Given the description of an element on the screen output the (x, y) to click on. 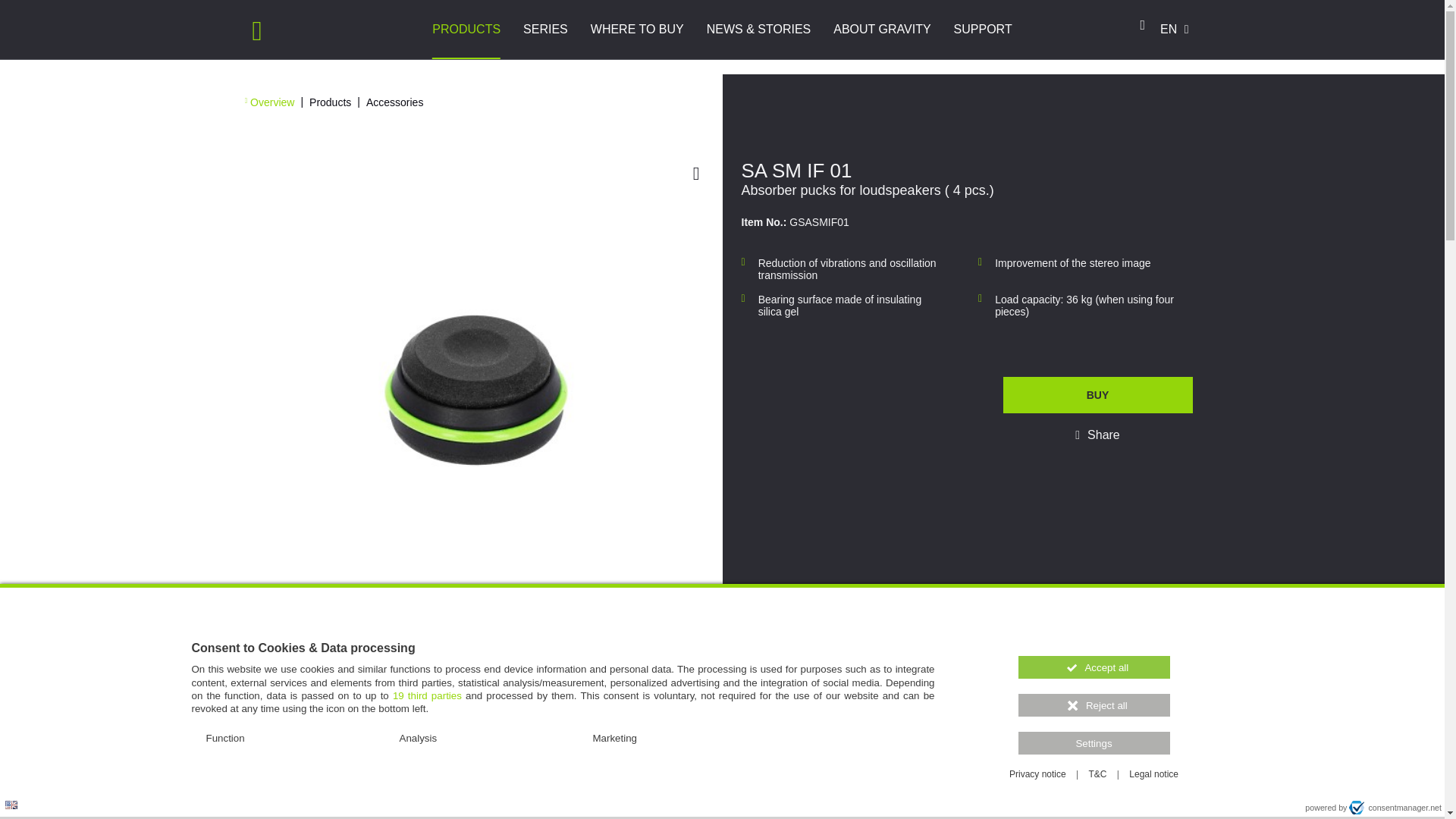
Privacy notice (1037, 774)
Language: en (11, 804)
About Gravity (882, 29)
Purpose (562, 739)
Settings (1093, 743)
19 third parties (427, 695)
Support (982, 29)
consentmanager.net (1395, 807)
Where to buy (637, 29)
s30 (19, 242)
Accept all (1093, 667)
ABOUT GRAVITY (882, 29)
SUPPORT (982, 29)
Reject all (1093, 704)
Language: en (11, 804)
